Given the description of an element on the screen output the (x, y) to click on. 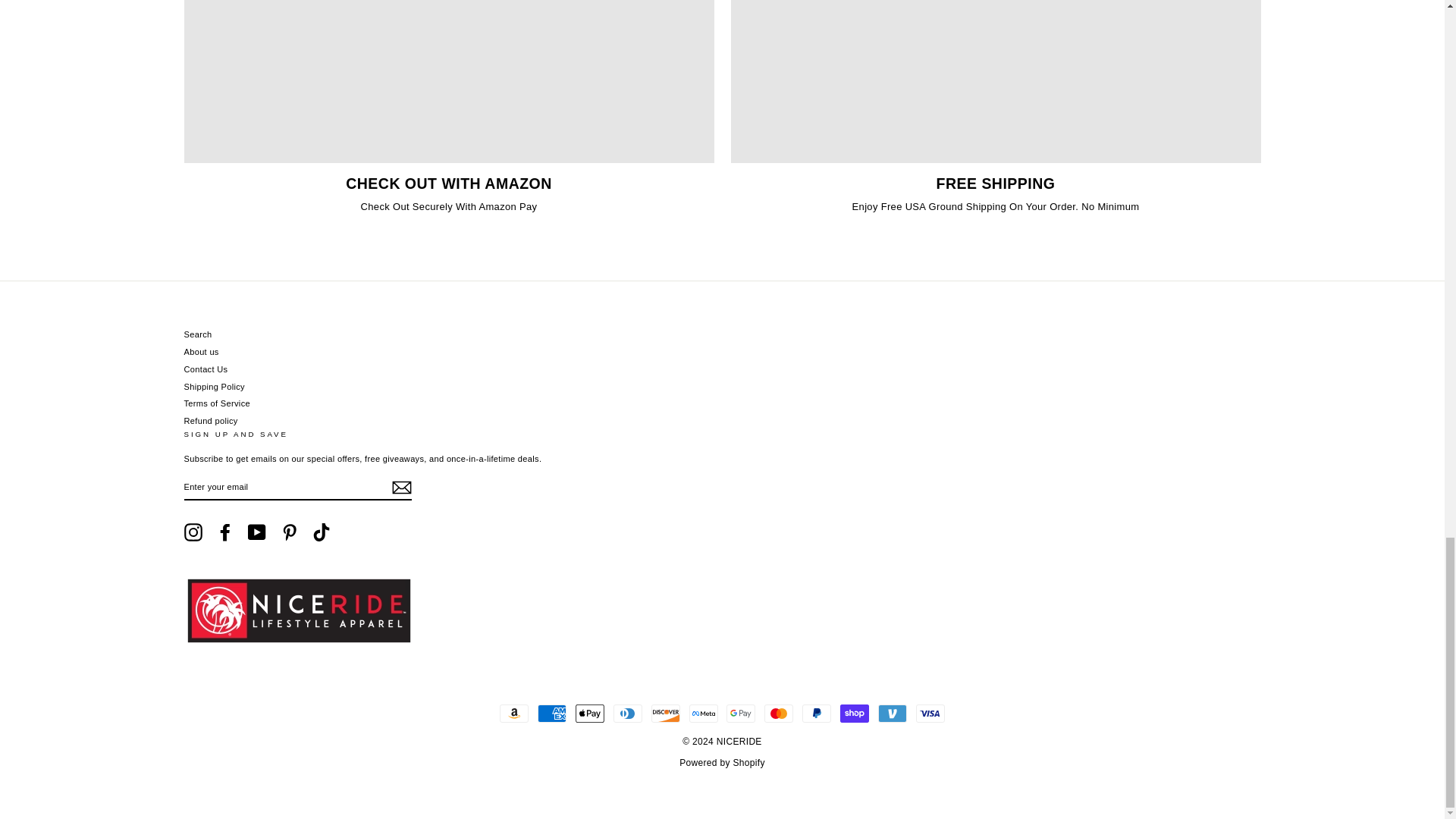
NICERIDE on Instagram (192, 532)
NICERIDE on YouTube (256, 532)
NICERIDE on Facebook (224, 532)
NICERIDE on Pinterest (289, 532)
NICERIDE on TikTok (321, 532)
